Given the description of an element on the screen output the (x, y) to click on. 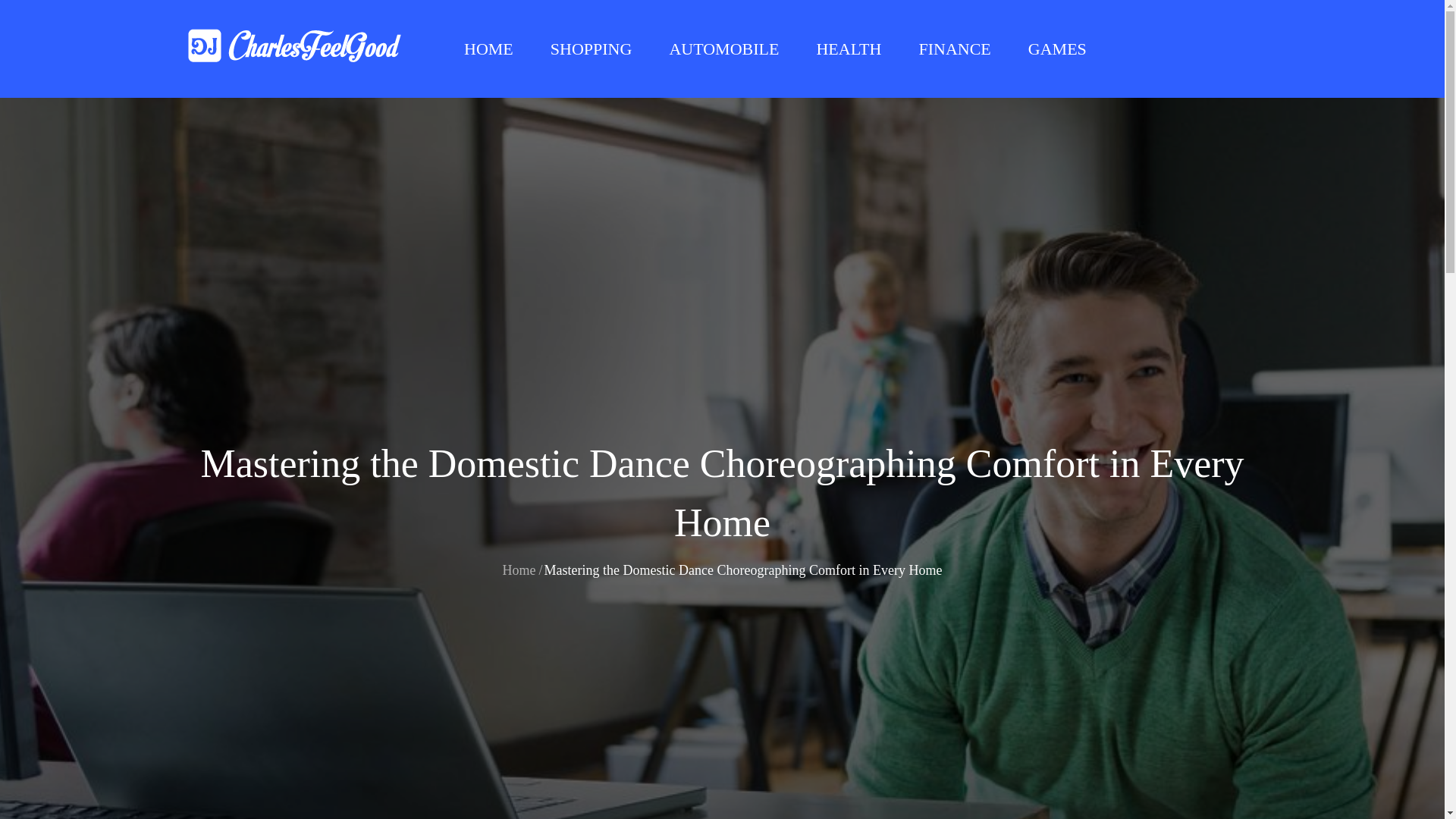
AUTOMOBILE (723, 48)
GAMES (1057, 48)
Dj Charles Feel Good (527, 60)
SHOPPING (591, 48)
Home (518, 570)
FINANCE (953, 48)
HEALTH (847, 48)
HOME (488, 48)
